Given the description of an element on the screen output the (x, y) to click on. 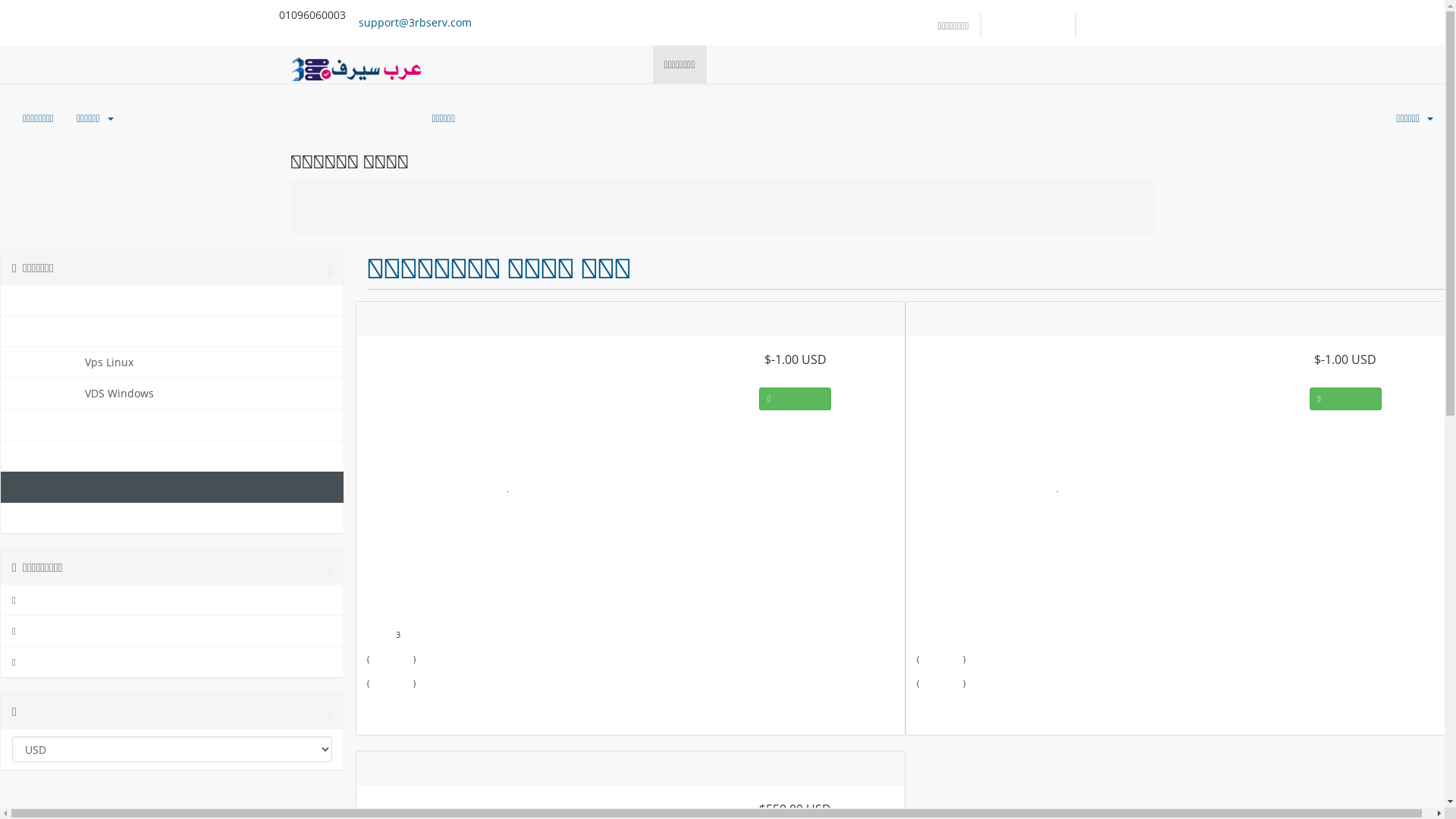
support@3rbserv.com Element type: text (415, 22)
